Given the description of an element on the screen output the (x, y) to click on. 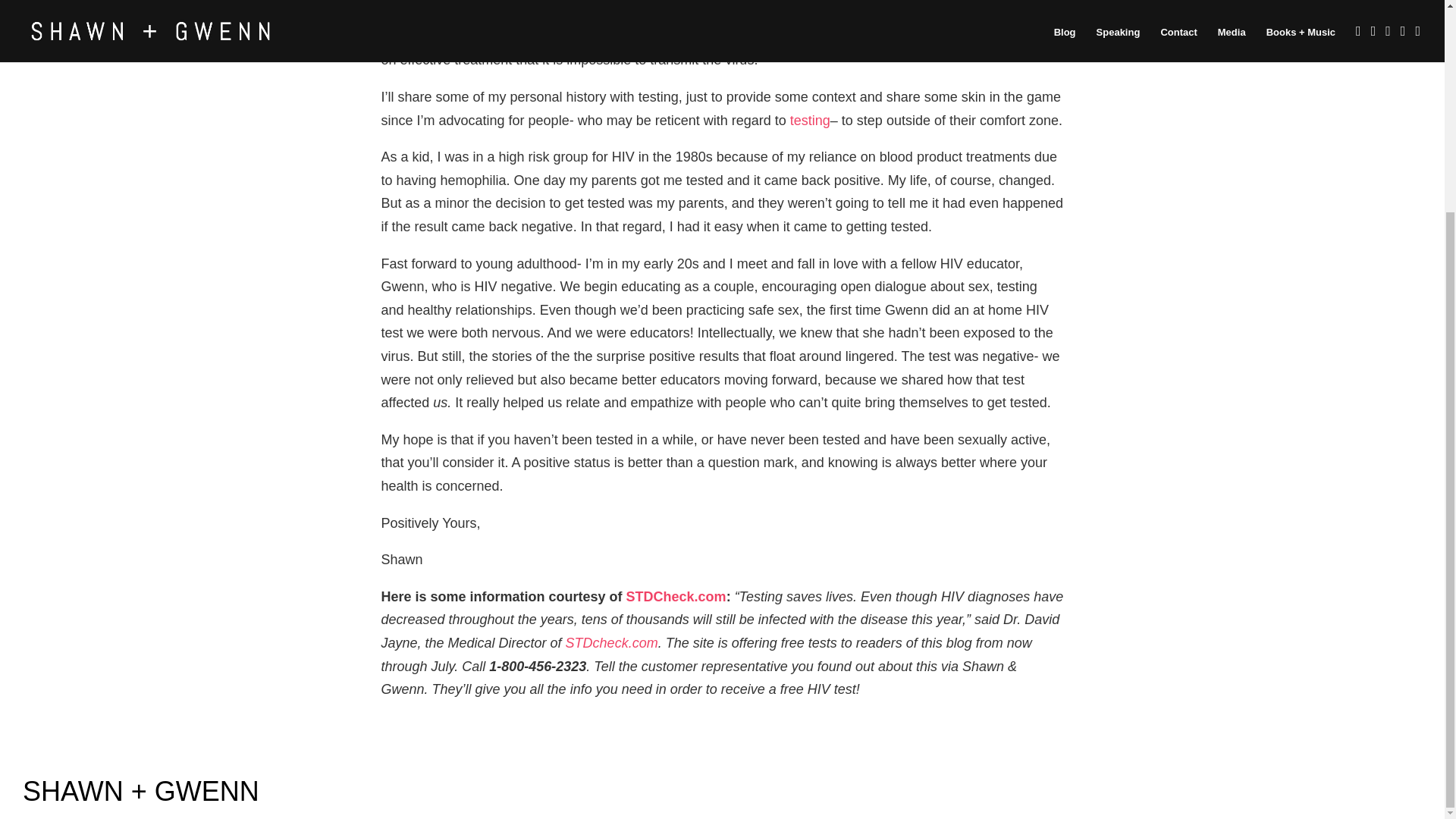
STDcheck.com (612, 642)
 testing (807, 120)
STDCheck.com (676, 596)
